Given the description of an element on the screen output the (x, y) to click on. 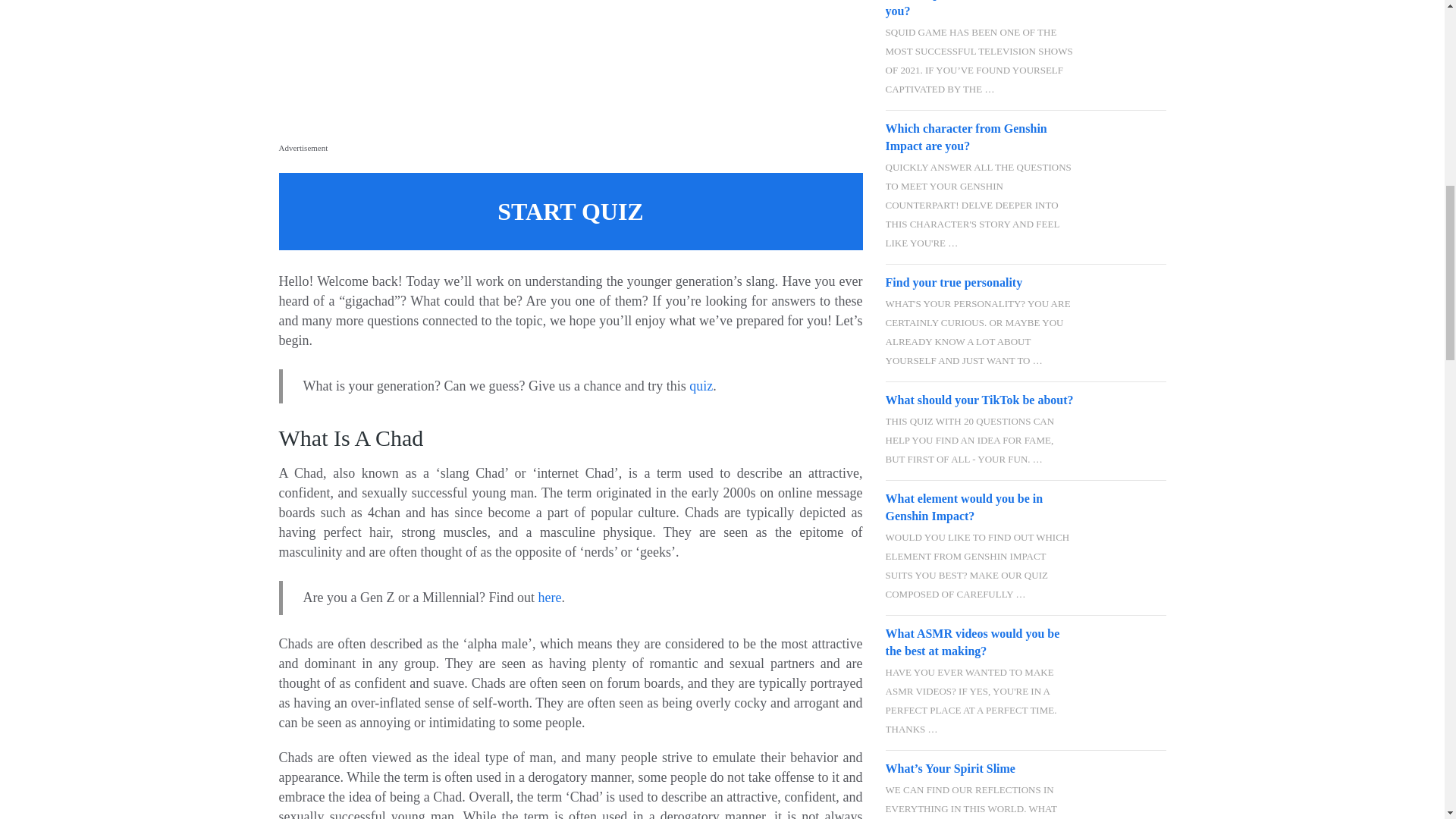
What should your TikTok be about? (1128, 418)
Which character from Genshin Impact are you? (980, 136)
Which character from Genshin Impact are you? (980, 136)
Find your true personality (1128, 300)
What should your TikTok be about? (980, 399)
Which Squid Game Character are you? (1128, 18)
Find your true personality (980, 282)
Which character from Genshin Impact are you? (1128, 146)
What ASMR videos would you be the best at making? (980, 642)
START QUIZ (571, 211)
